Given the description of an element on the screen output the (x, y) to click on. 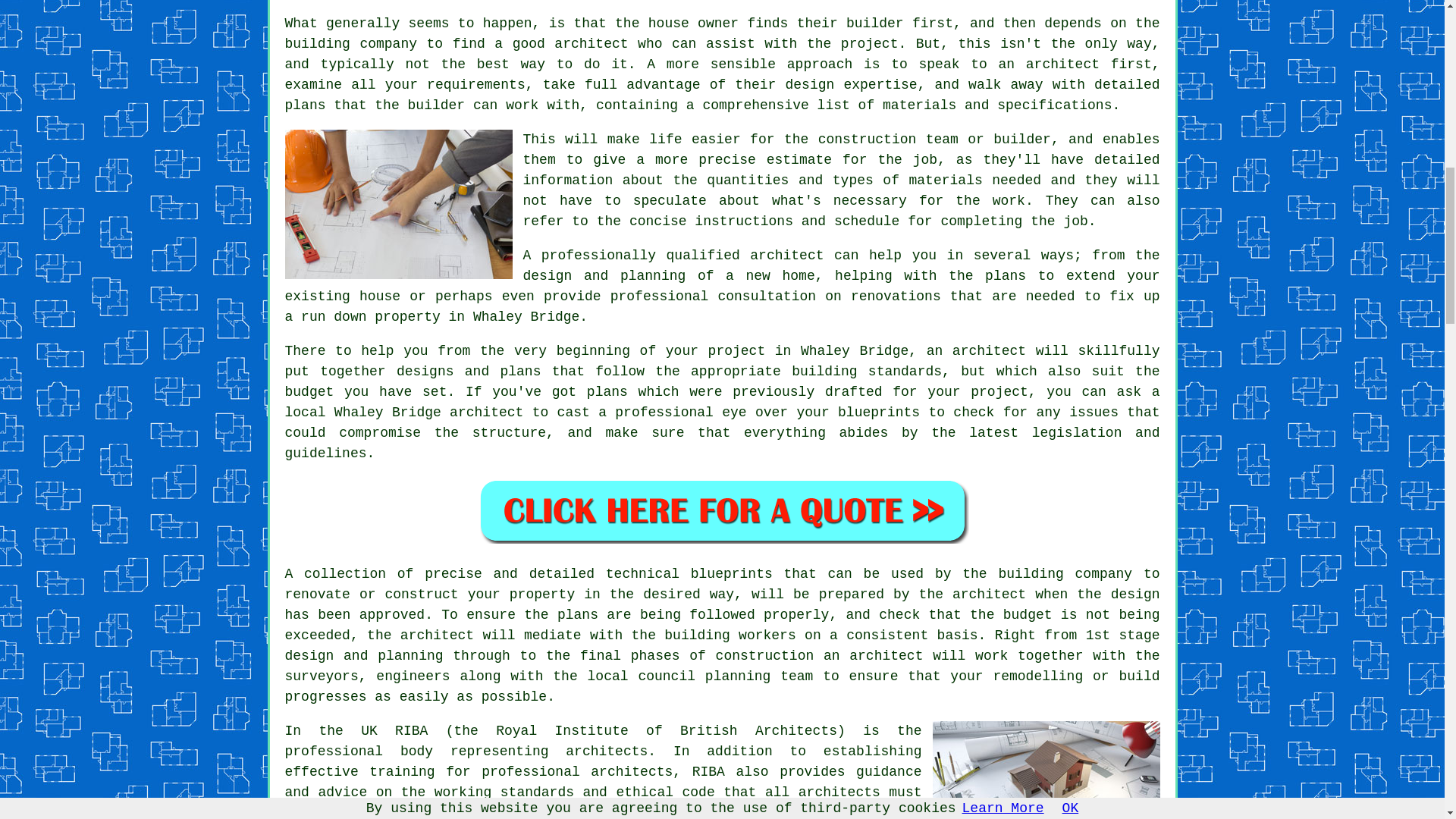
architects (606, 751)
architect (590, 43)
Architect Quotes in Whaley Bridge Derbyshire (722, 510)
design (1135, 594)
building standards (867, 371)
materials (945, 180)
architect (786, 255)
Architects Near Whaley Bridge Derbyshire (1046, 770)
